Given the description of an element on the screen output the (x, y) to click on. 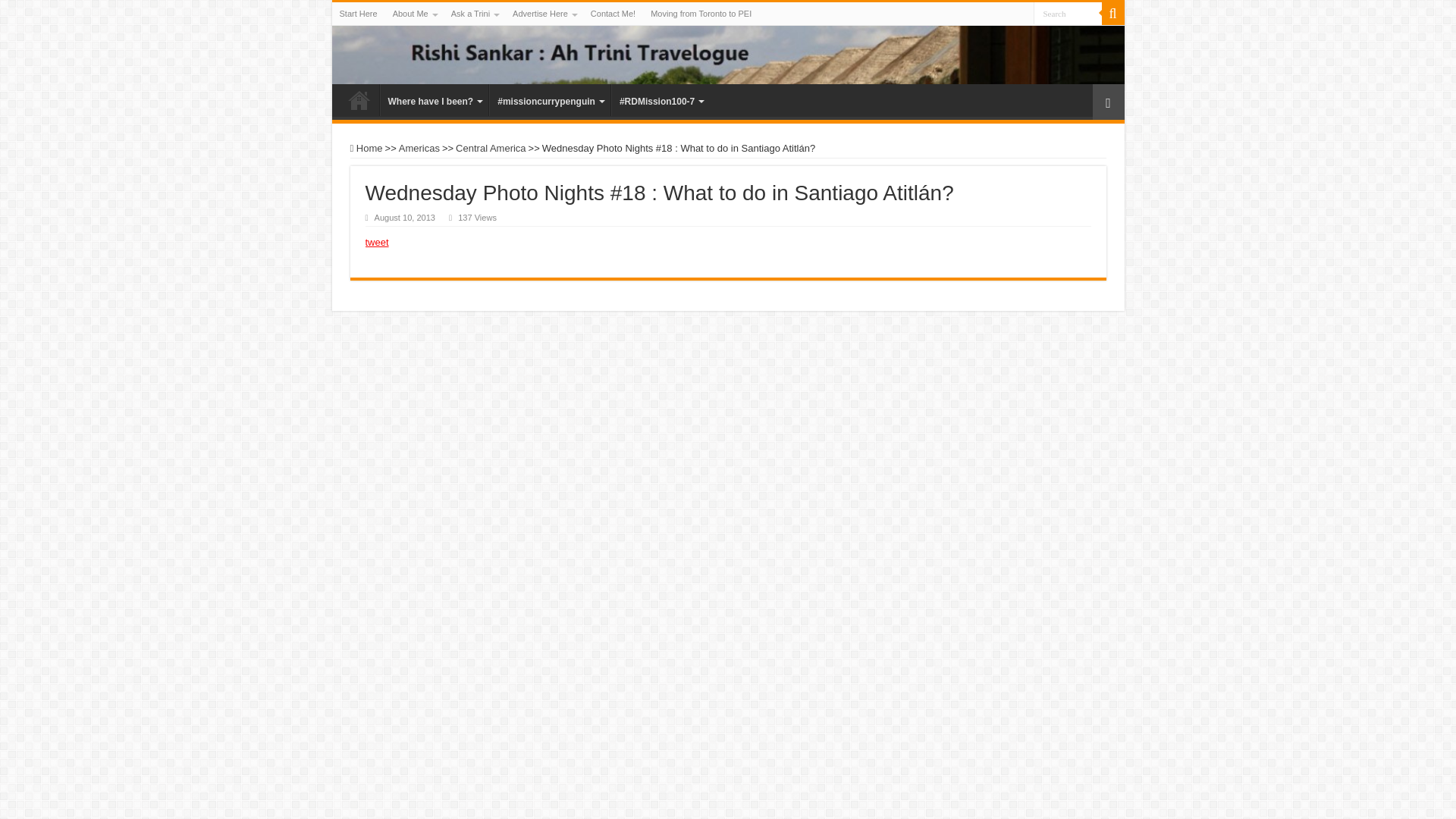
Advertise Here (544, 13)
Search (1066, 13)
Start Here (358, 13)
Search (1066, 13)
Search (1112, 13)
Contact Me! (613, 13)
Where have I been? (432, 100)
Ask a Trini (474, 13)
Moving from Toronto to PEI (700, 13)
Home (358, 100)
About Me (414, 13)
Search (1066, 13)
